Given the description of an element on the screen output the (x, y) to click on. 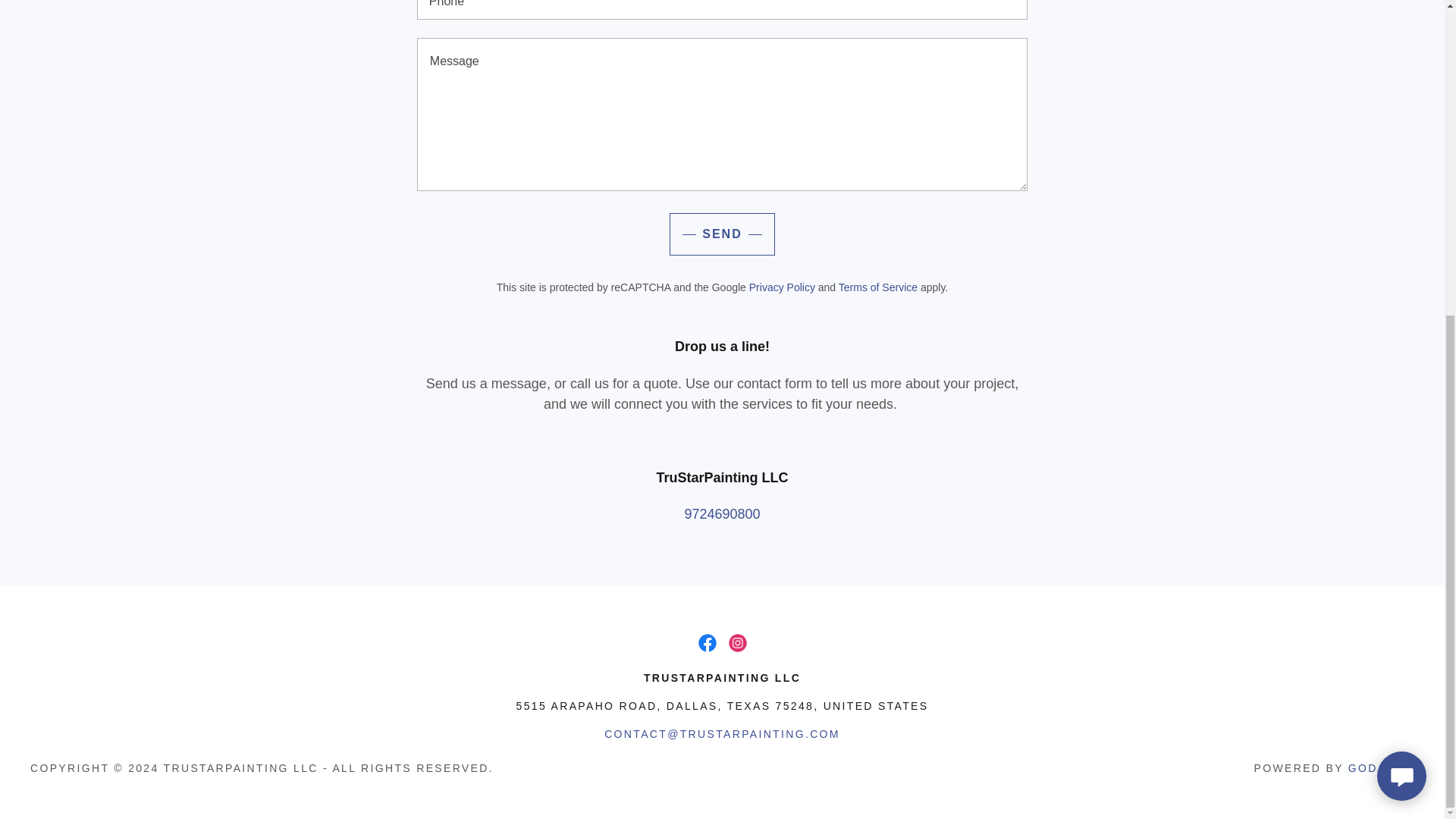
Privacy Policy (782, 287)
Terms of Service (877, 287)
SEND (721, 233)
GODADDY (1380, 767)
9724690800 (722, 513)
